Given the description of an element on the screen output the (x, y) to click on. 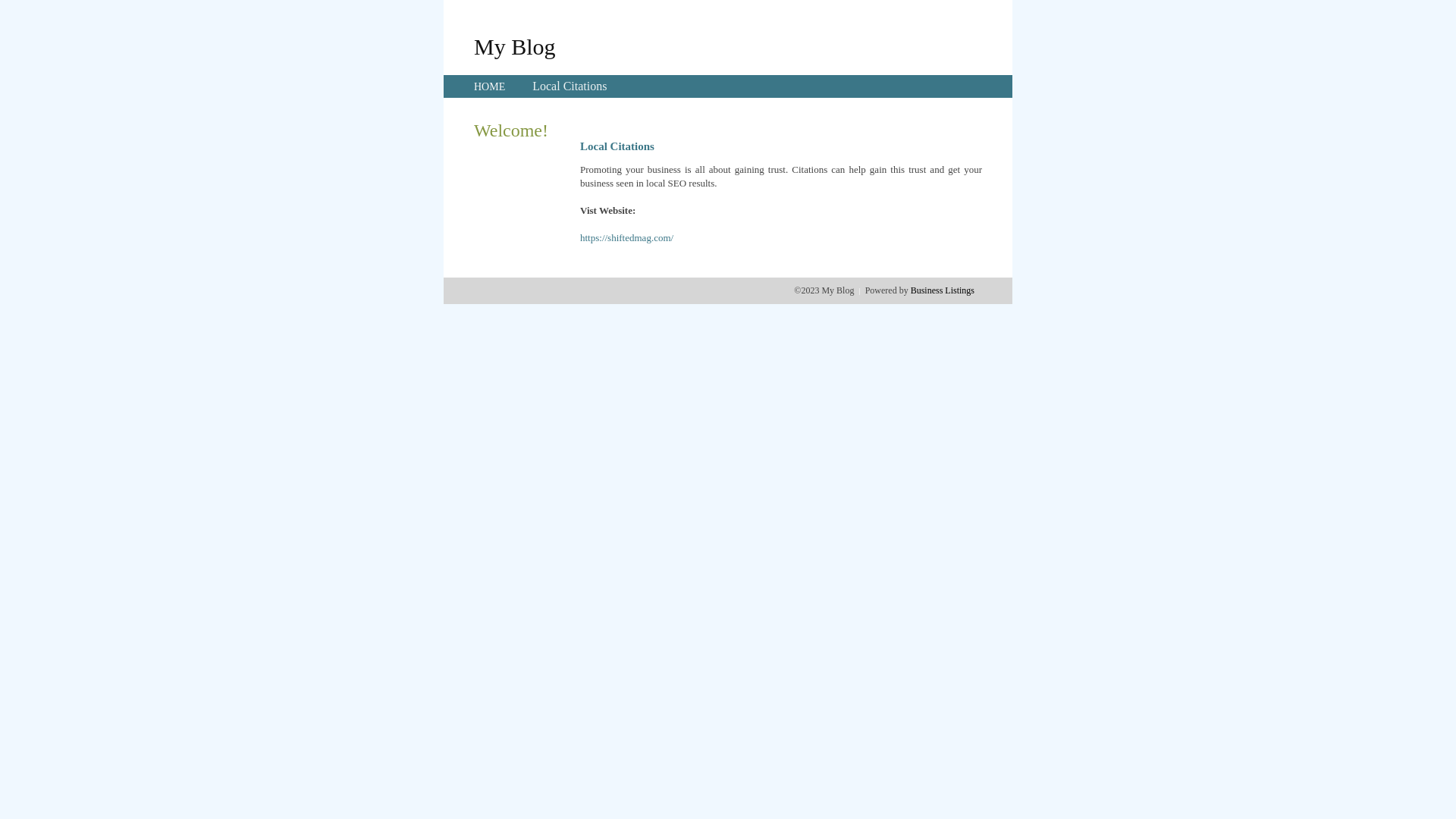
https://shiftedmag.com/ Element type: text (626, 237)
My Blog Element type: text (514, 46)
Local Citations Element type: text (569, 85)
Business Listings Element type: text (942, 290)
HOME Element type: text (489, 86)
